Given the description of an element on the screen output the (x, y) to click on. 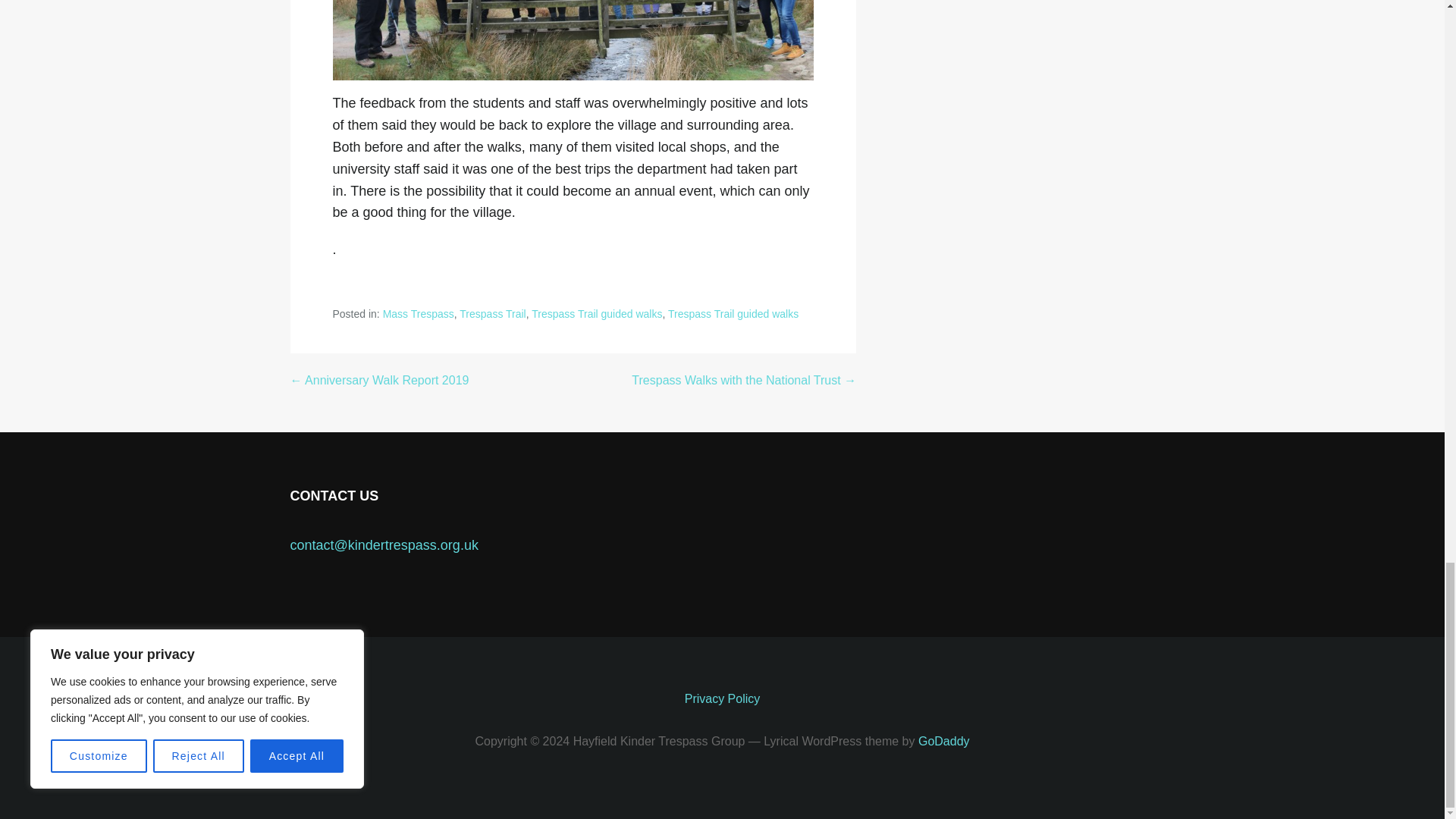
Trespass Trail guided walks (732, 313)
Trespass Trail (492, 313)
Mass Trespass (418, 313)
Trespass Trail guided walks (596, 313)
